Given the description of an element on the screen output the (x, y) to click on. 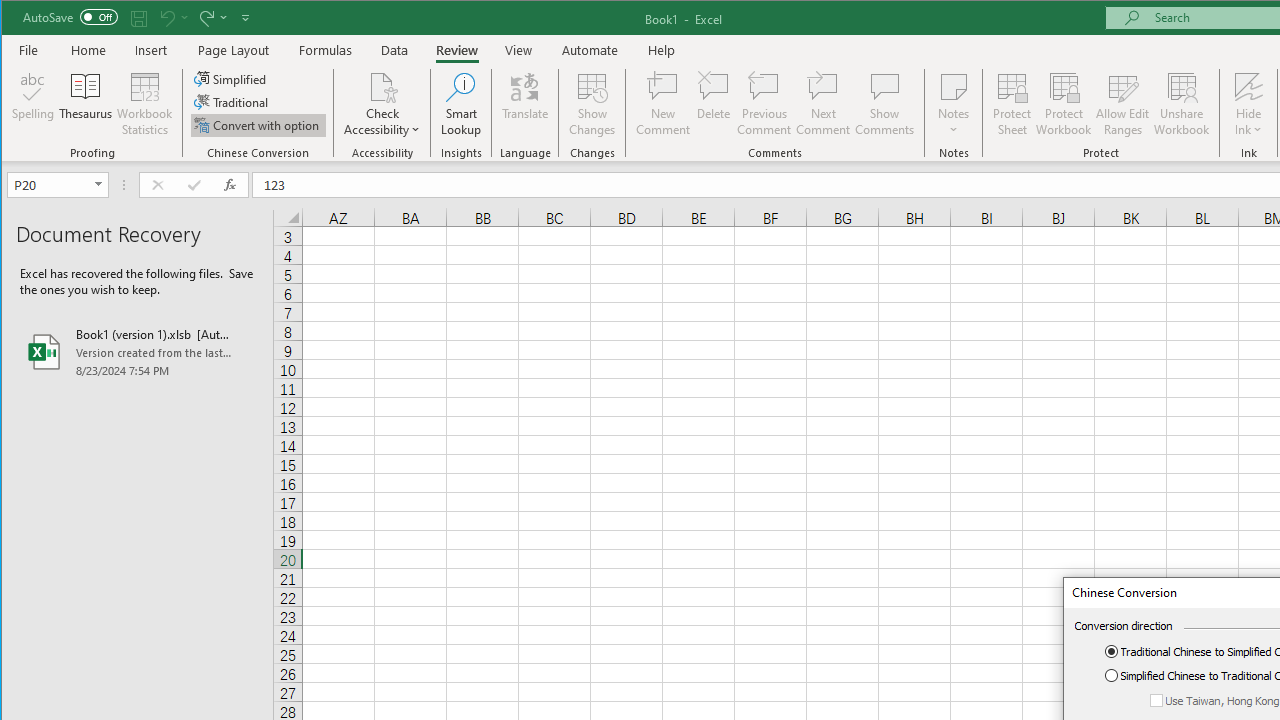
Previous Comment (763, 104)
Simplified (231, 78)
Next Comment (822, 104)
Smart Lookup (461, 104)
Allow Edit Ranges (1123, 104)
New Comment (662, 104)
Protect Sheet... (1012, 104)
Traditional (232, 101)
